Given the description of an element on the screen output the (x, y) to click on. 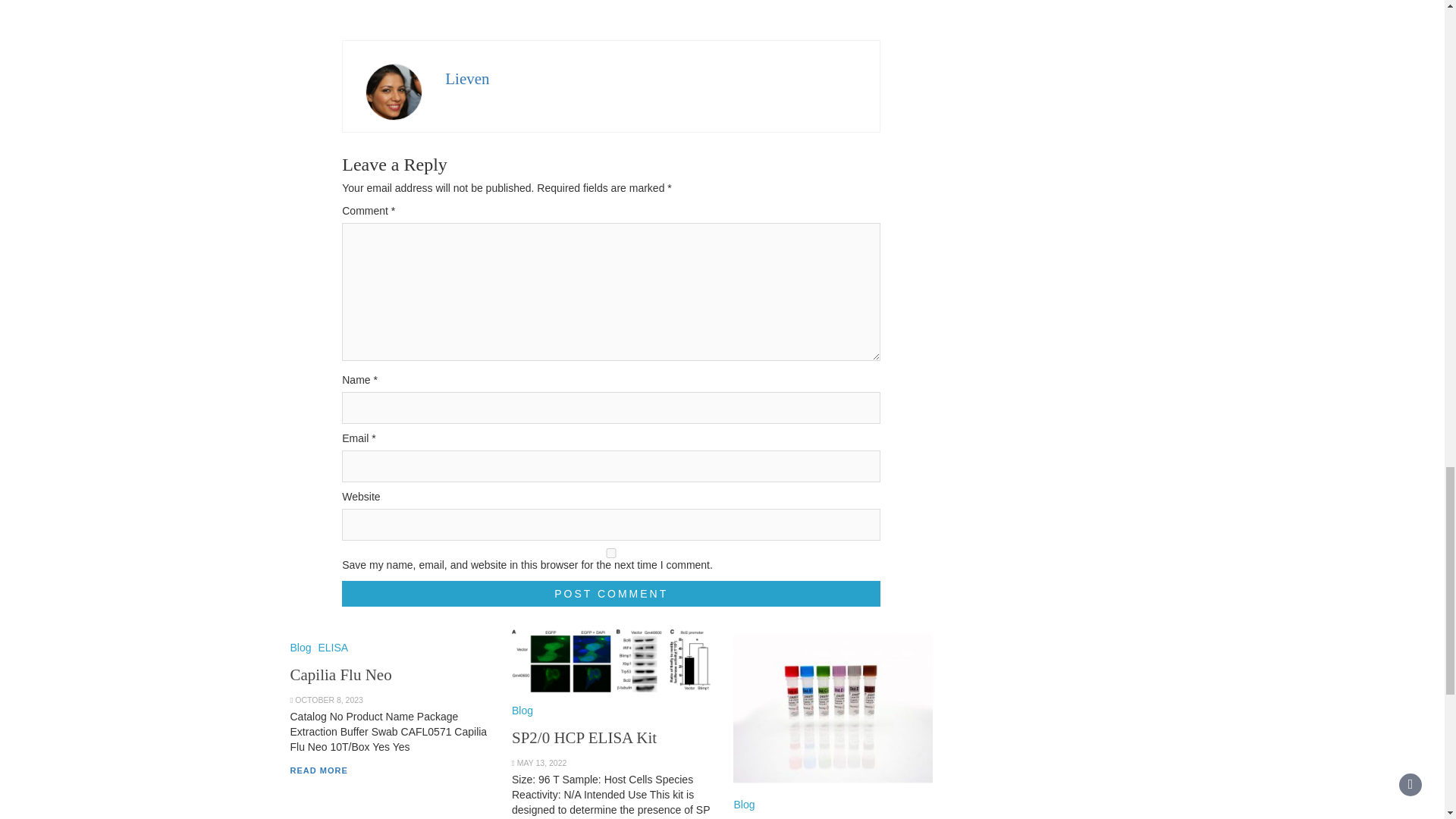
Blog (522, 710)
Lieven (467, 78)
yes (611, 552)
Post Comment (611, 593)
Capilia Flu Neo (340, 674)
READ MORE (318, 769)
Blog (300, 647)
Blog (743, 804)
OCTOBER 8, 2023 (328, 699)
ELISA (332, 647)
